Given the description of an element on the screen output the (x, y) to click on. 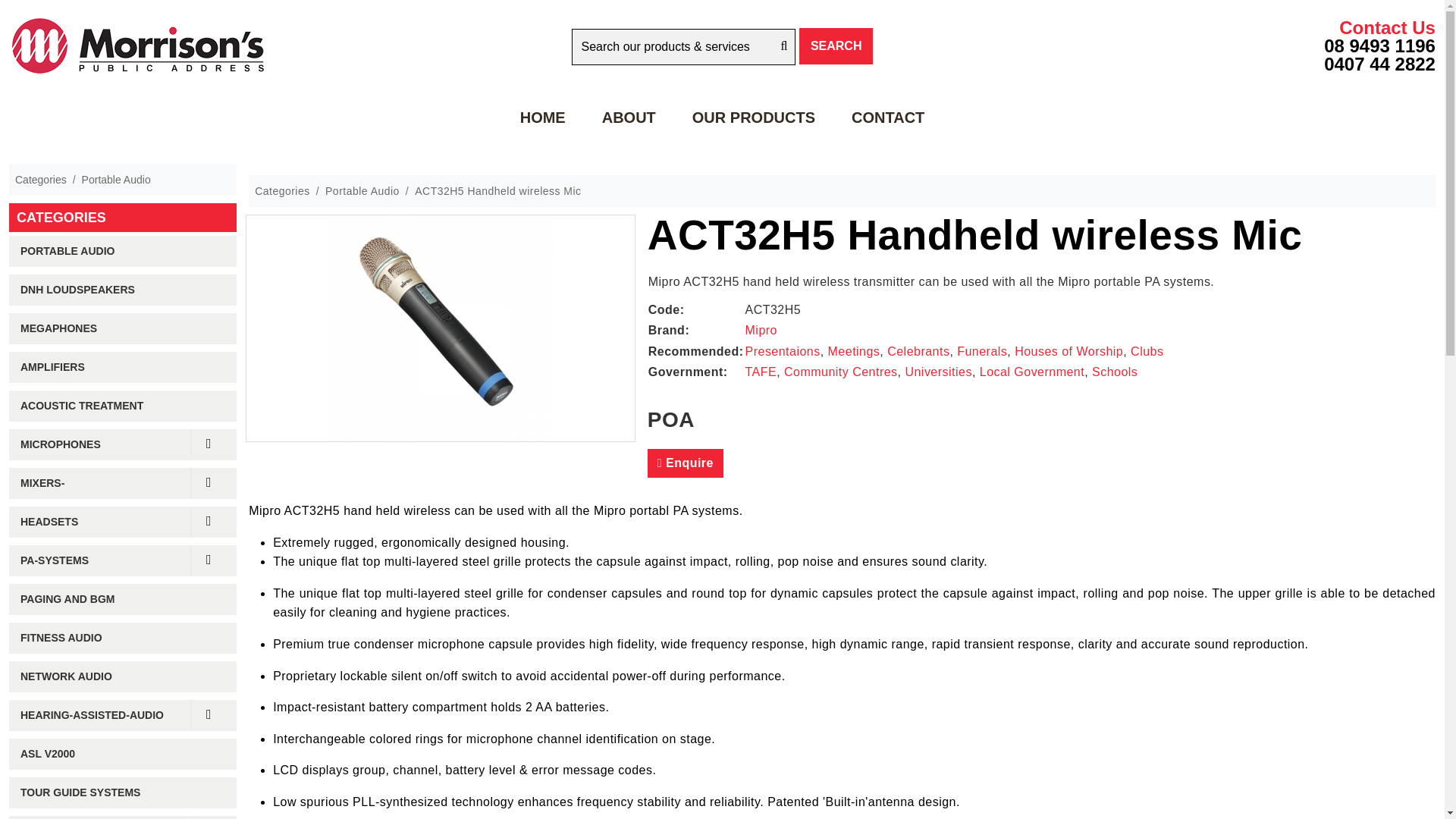
DNH LOUDSPEAKERS (121, 289)
TOUR GUIDE SYSTEMS (121, 792)
ABOUT (628, 117)
HEADSETS (121, 521)
ACOUSTIC TREATMENT (121, 405)
ASL V2000 (121, 753)
Categories (40, 179)
PORTABLE AUDIO (121, 250)
MIXERS- (121, 482)
OUR PRODUCTS (753, 117)
